Given the description of an element on the screen output the (x, y) to click on. 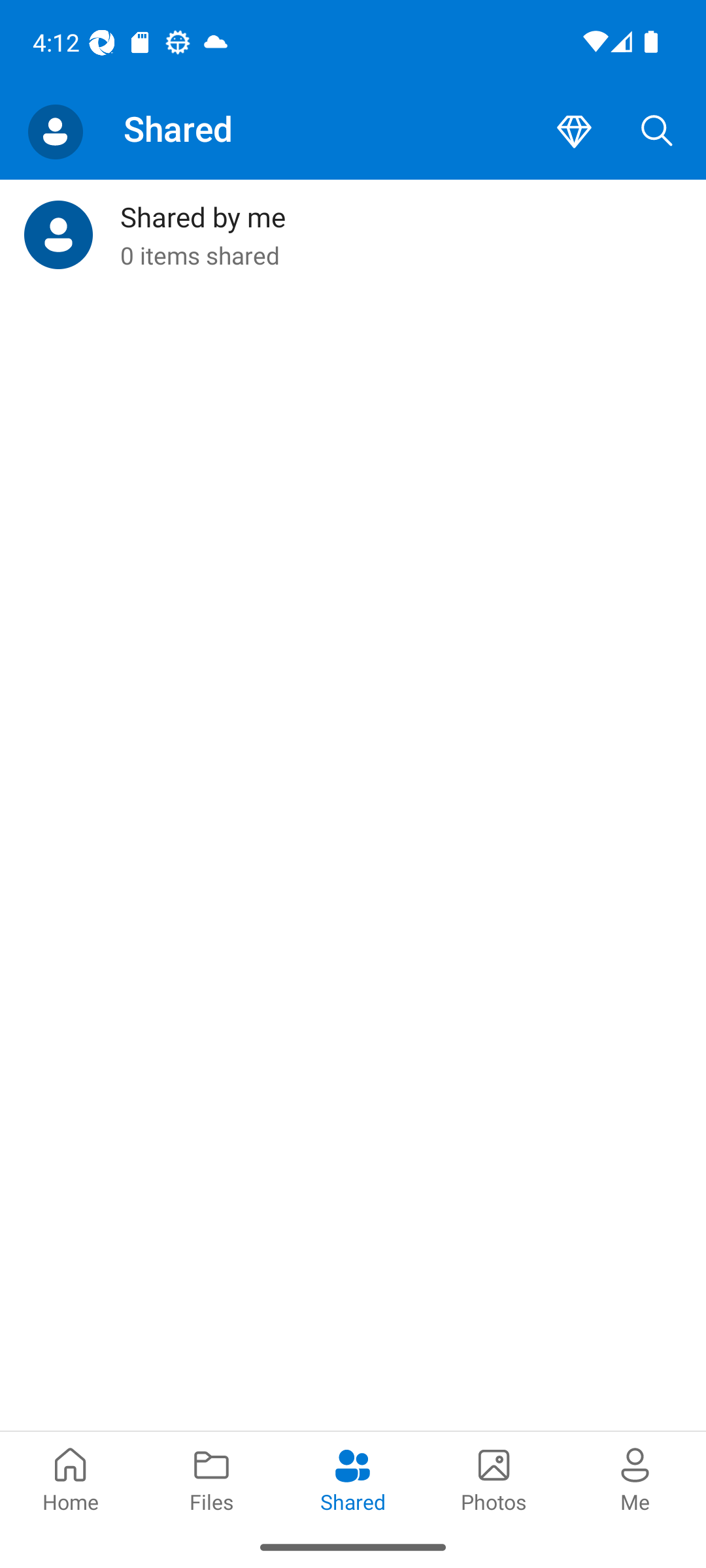
Account switcher (55, 131)
Premium button (574, 131)
Search button (656, 131)
0 Shared by me 0 items shared (353, 235)
Home pivot Home (70, 1478)
Files pivot Files (211, 1478)
Photos pivot Photos (493, 1478)
Me pivot Me (635, 1478)
